Given the description of an element on the screen output the (x, y) to click on. 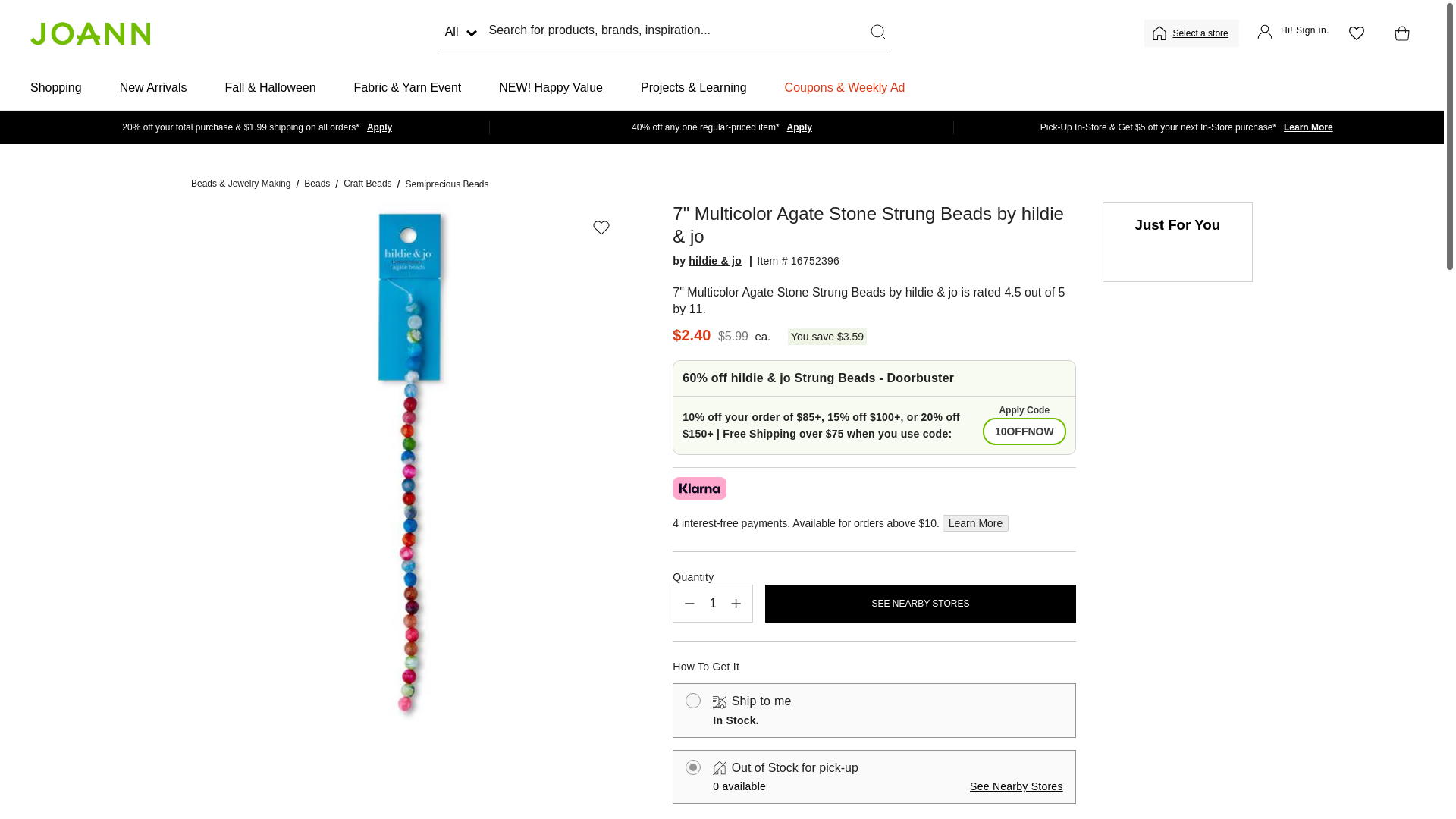
1 (712, 603)
JO-ANN STORES, LLC Home (89, 33)
Craft Beads (367, 183)
View Cart (1398, 33)
Hi! Sign in. (1293, 33)
Beads (317, 183)
Select a store (1201, 32)
Hi! Sign in. (1293, 33)
Shopping (55, 87)
Favorites (1356, 33)
